Given the description of an element on the screen output the (x, y) to click on. 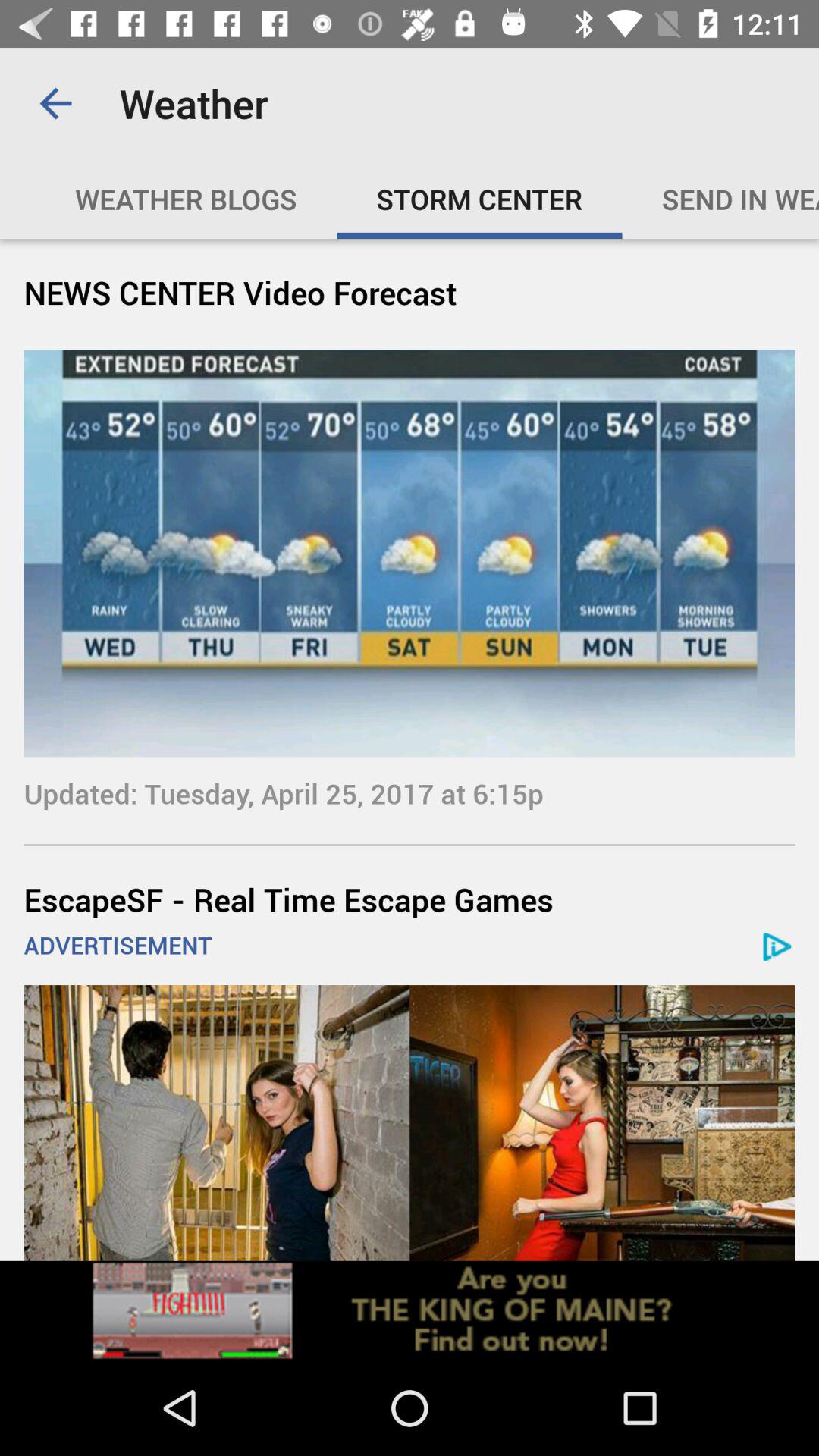
select the text above advertisement (409, 898)
select the 2nd image on the web page (409, 1122)
